Given the description of an element on the screen output the (x, y) to click on. 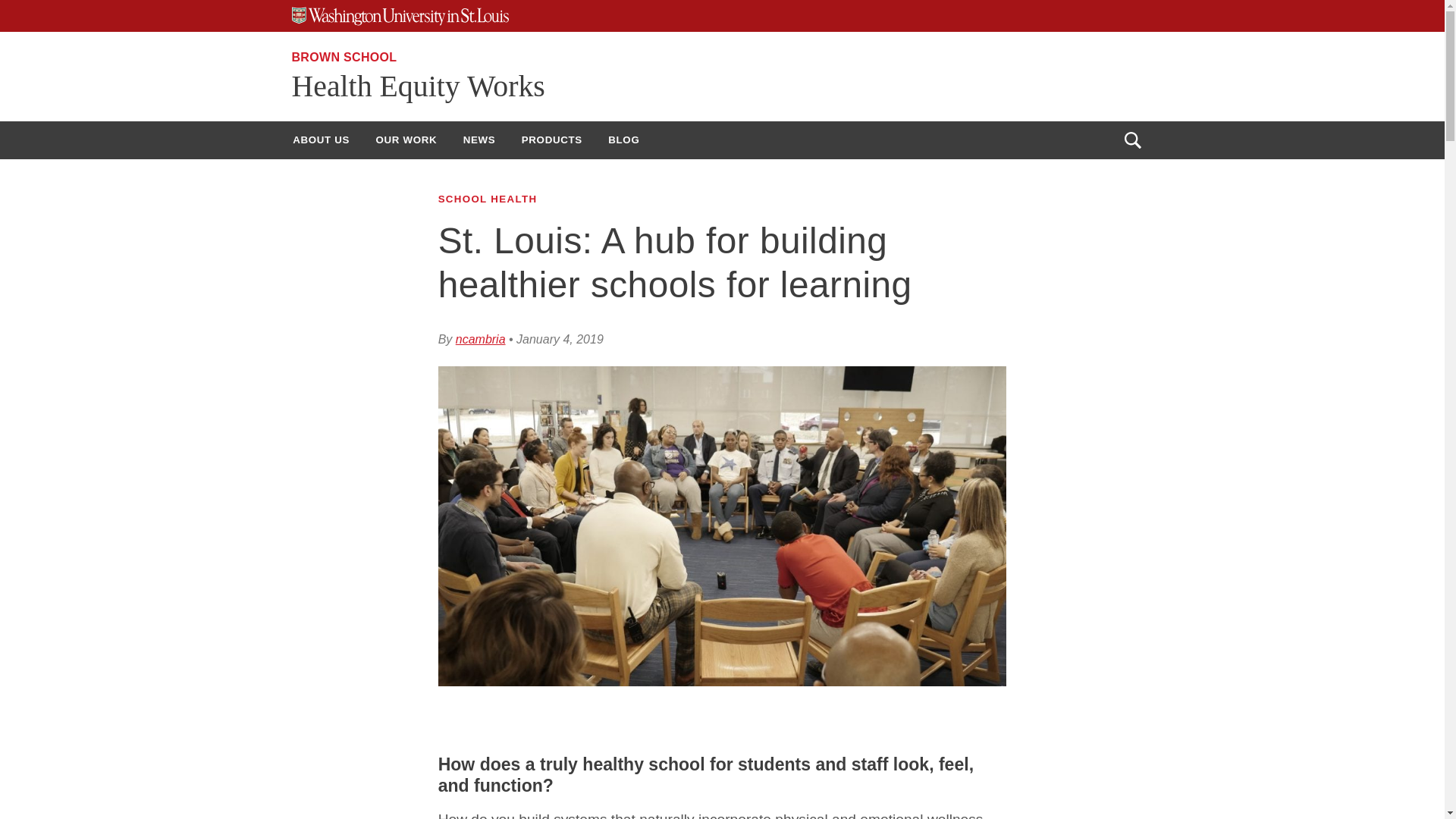
OUR WORK (406, 139)
Health Equity Works (417, 86)
PRODUCTS (552, 139)
NEWS (478, 139)
Open Search (1132, 140)
Posts by ncambria (480, 338)
ABOUT US (321, 139)
BROWN SCHOOL (343, 56)
SCHOOL HEALTH (487, 198)
